Given the description of an element on the screen output the (x, y) to click on. 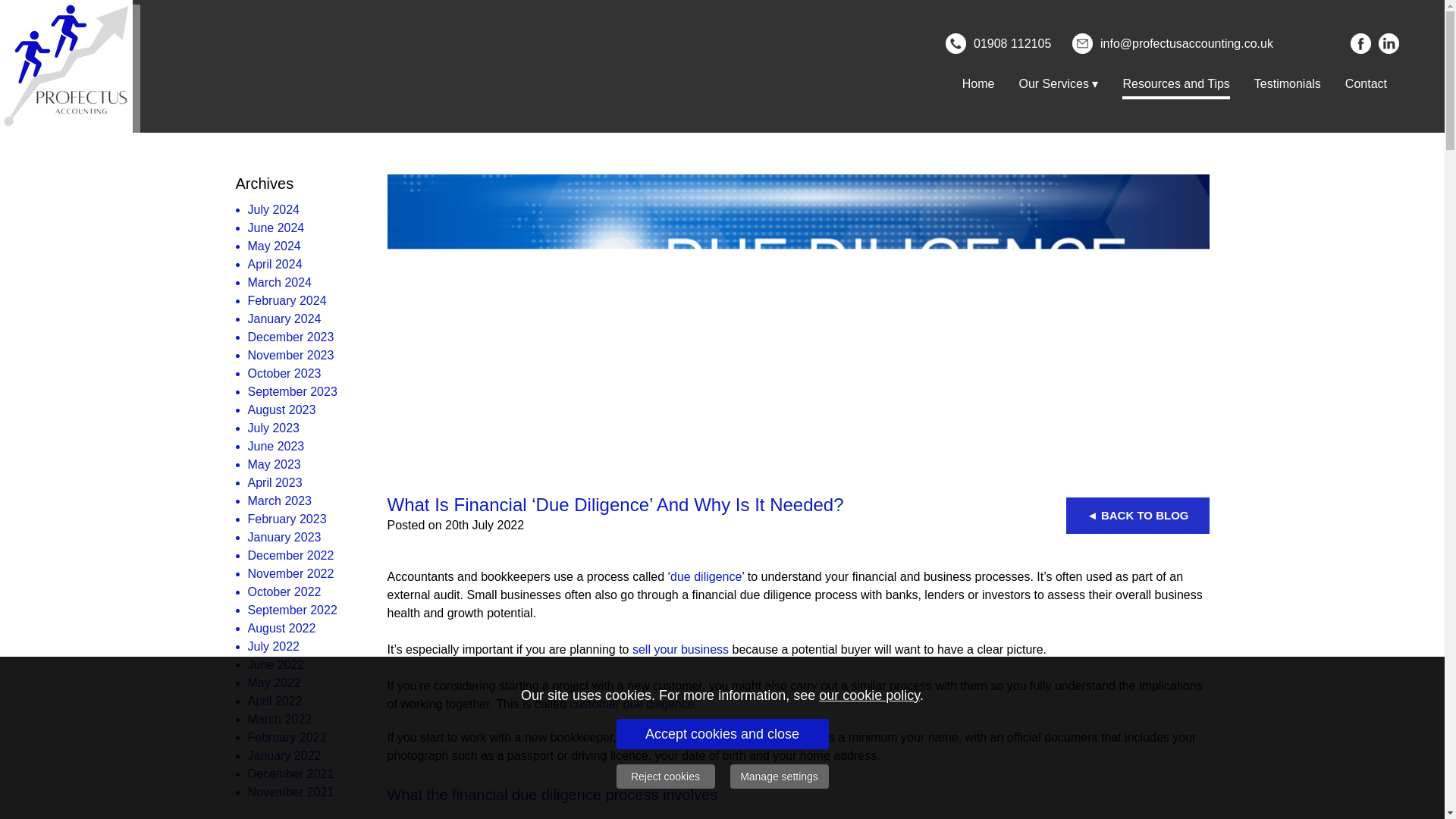
Our Services (1058, 83)
customer due diligence (631, 703)
due diligence (705, 576)
Home (978, 83)
sell your business (680, 649)
Testimonials (1287, 83)
Resources and Tips (1175, 83)
Contact (1366, 83)
BACK TO BLOG (1137, 515)
